Given the description of an element on the screen output the (x, y) to click on. 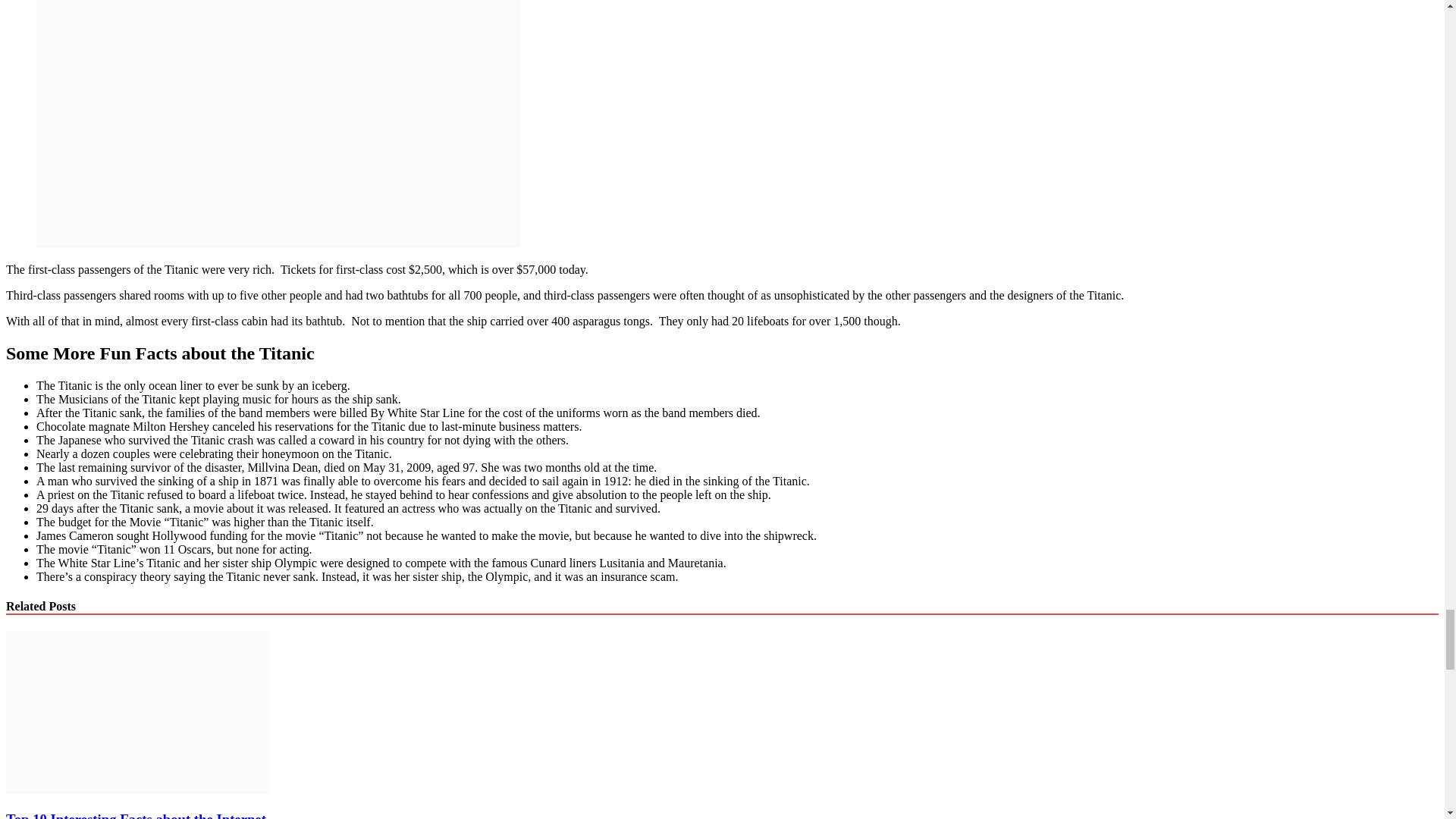
Top 10 Interesting Facts about the Internet (135, 815)
Top 10 Interesting Facts about the Internet (137, 789)
Top 10 Interesting Facts about the Internet (135, 815)
